Given the description of an element on the screen output the (x, y) to click on. 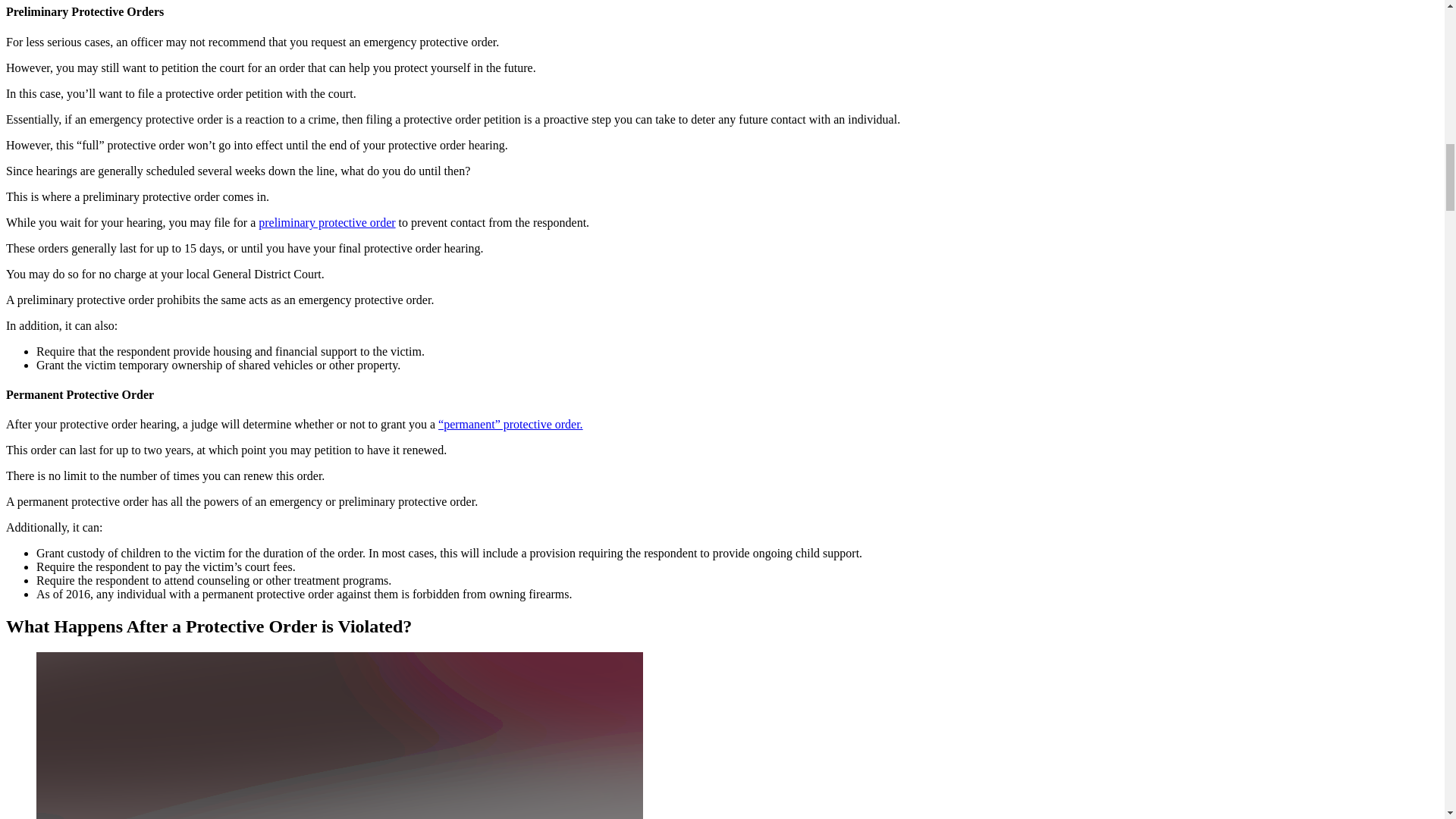
preliminary protective order (326, 222)
Tingen Law, PLLC - (339, 735)
